Given the description of an element on the screen output the (x, y) to click on. 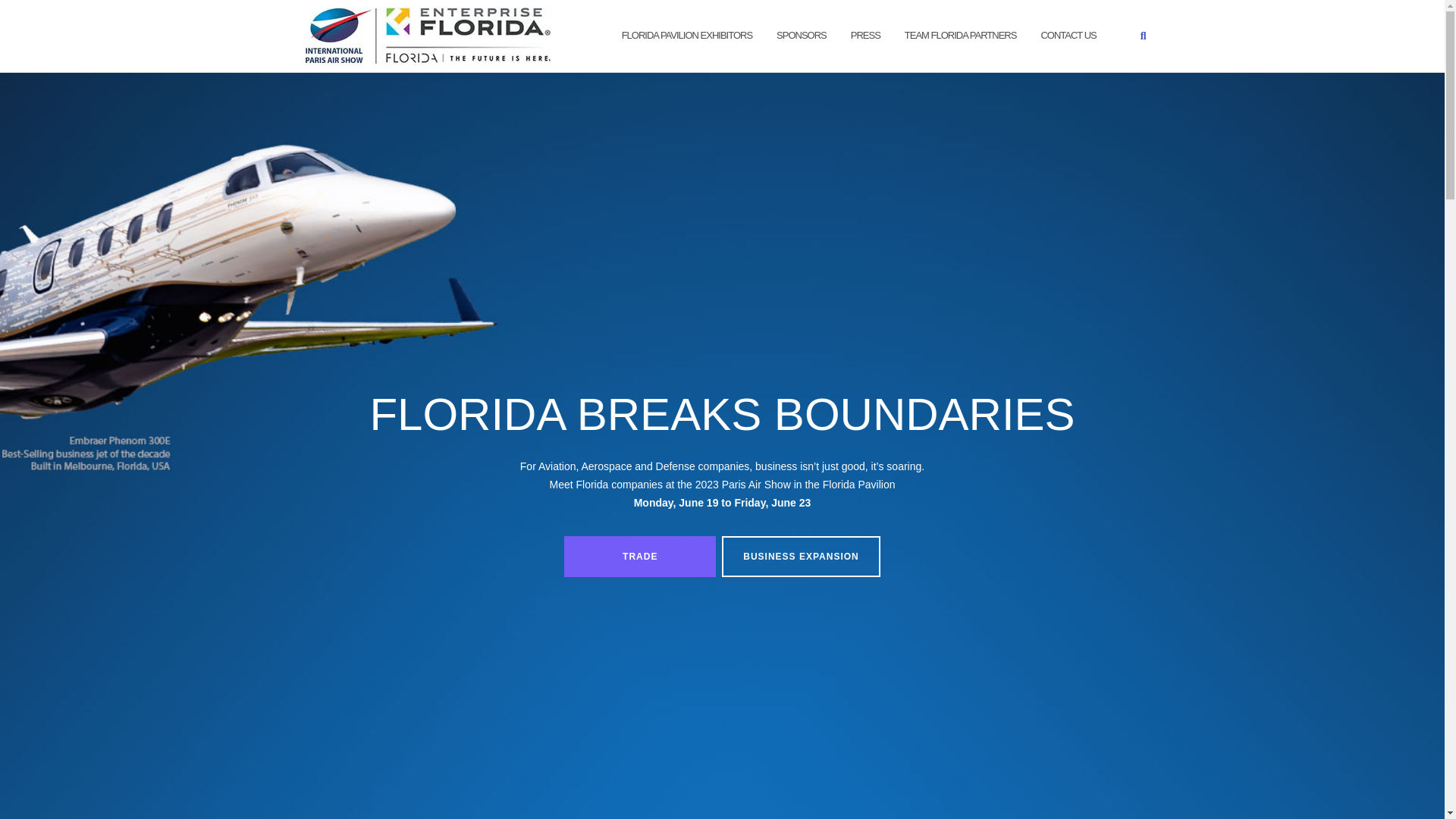
TEAM FLORIDA PARTNERS (960, 35)
Florida Pavilion Exhibitors (686, 35)
Sponsors (801, 35)
TRADE (640, 556)
Contact Us (1068, 35)
SPONSORS (801, 35)
Team Florida Partners (960, 35)
BUSINESS EXPANSION (800, 556)
FLORIDA PAVILION EXHIBITORS (686, 35)
CONTACT US (1068, 35)
